Given the description of an element on the screen output the (x, y) to click on. 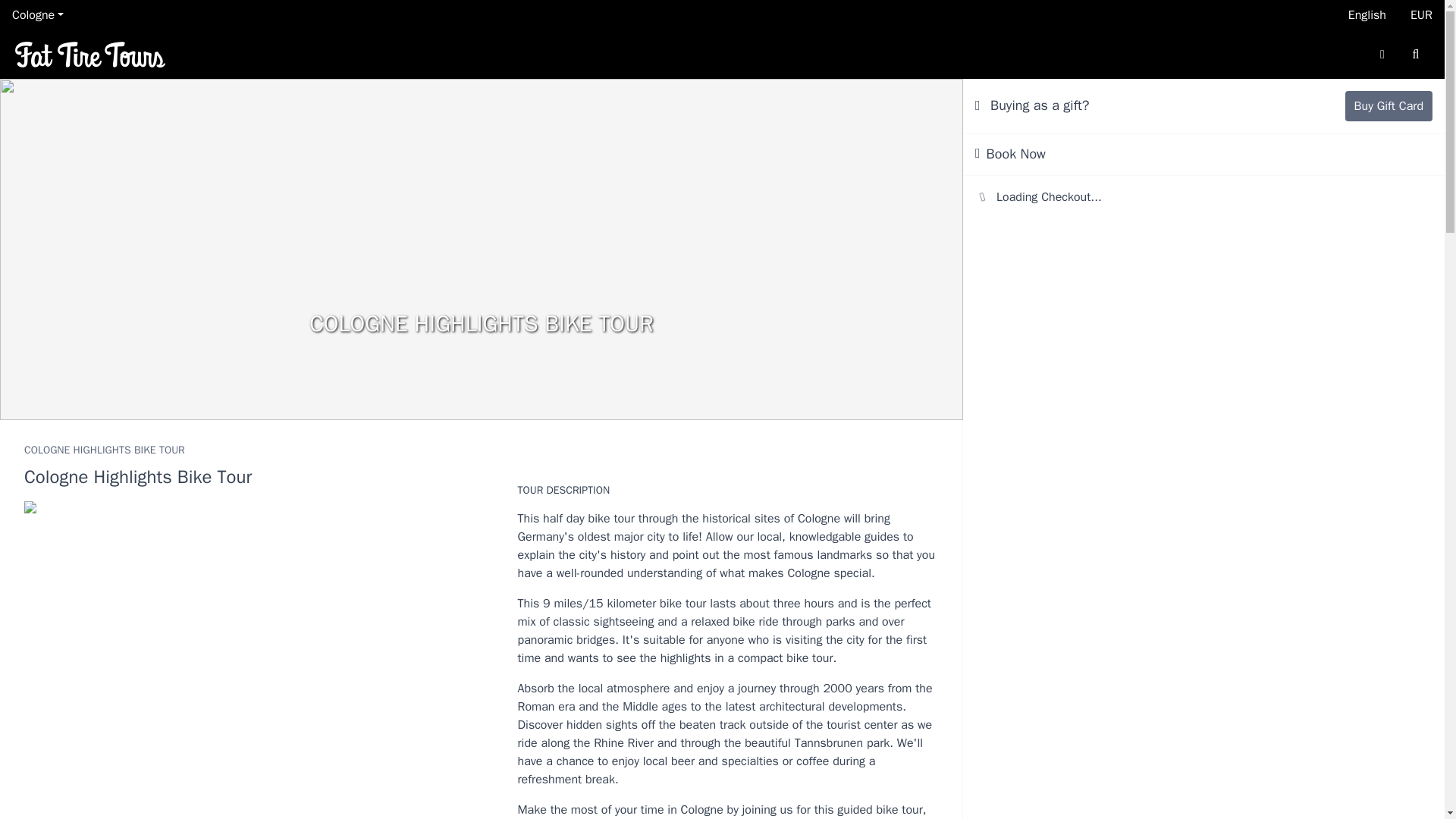
Cologne (37, 15)
